Given the description of an element on the screen output the (x, y) to click on. 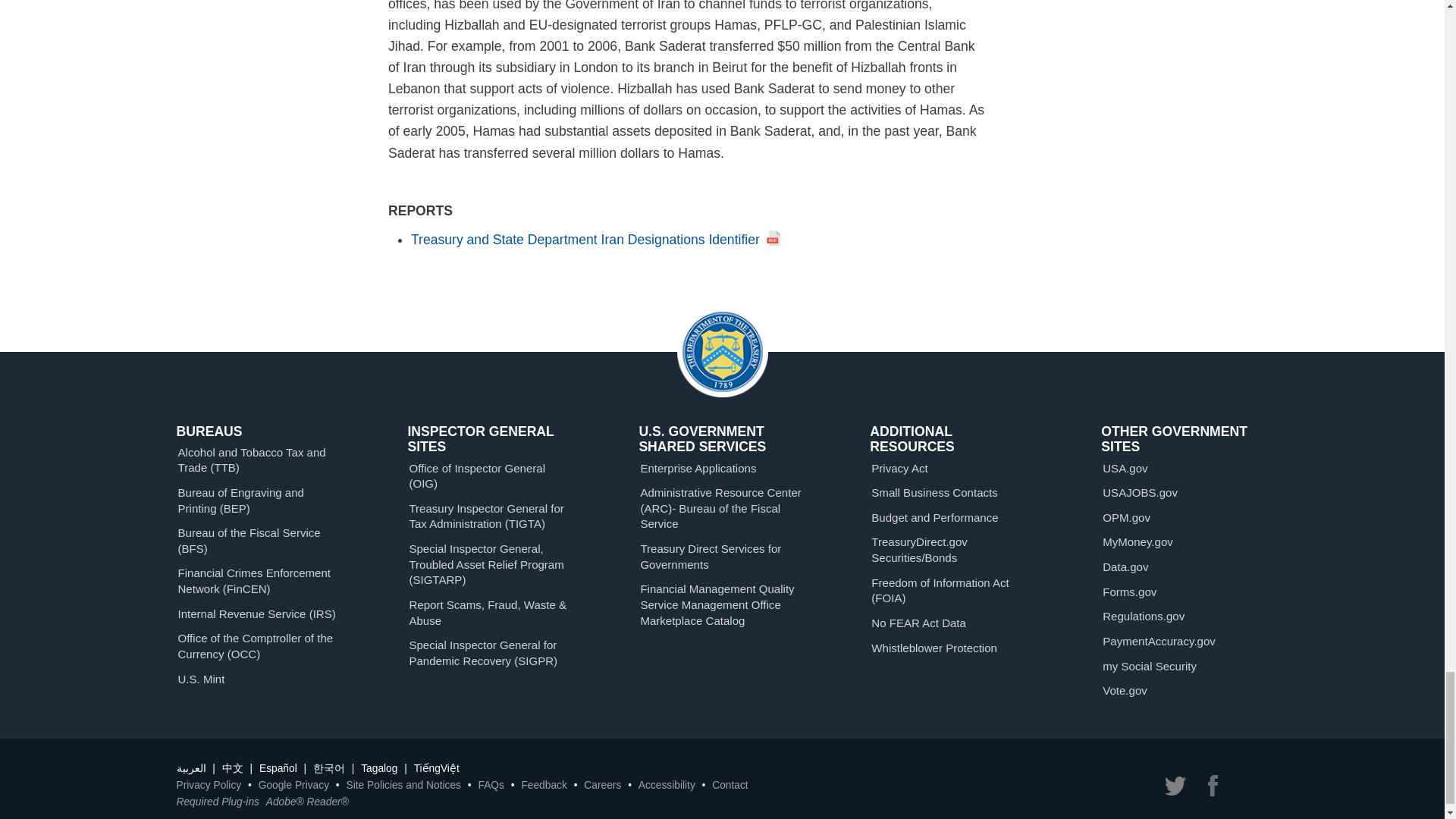
Accessibility (667, 785)
Site Policies and Notices (403, 785)
Tagalog (379, 767)
Chinese (232, 767)
Arabic (190, 767)
Privacy Policy (208, 785)
Careers (602, 785)
Feedback (543, 785)
This link opens in a new window. (595, 239)
Google Privacy (294, 785)
FAQs (490, 785)
Korean (329, 767)
Vietnamese (436, 767)
Spanish (278, 767)
